Given the description of an element on the screen output the (x, y) to click on. 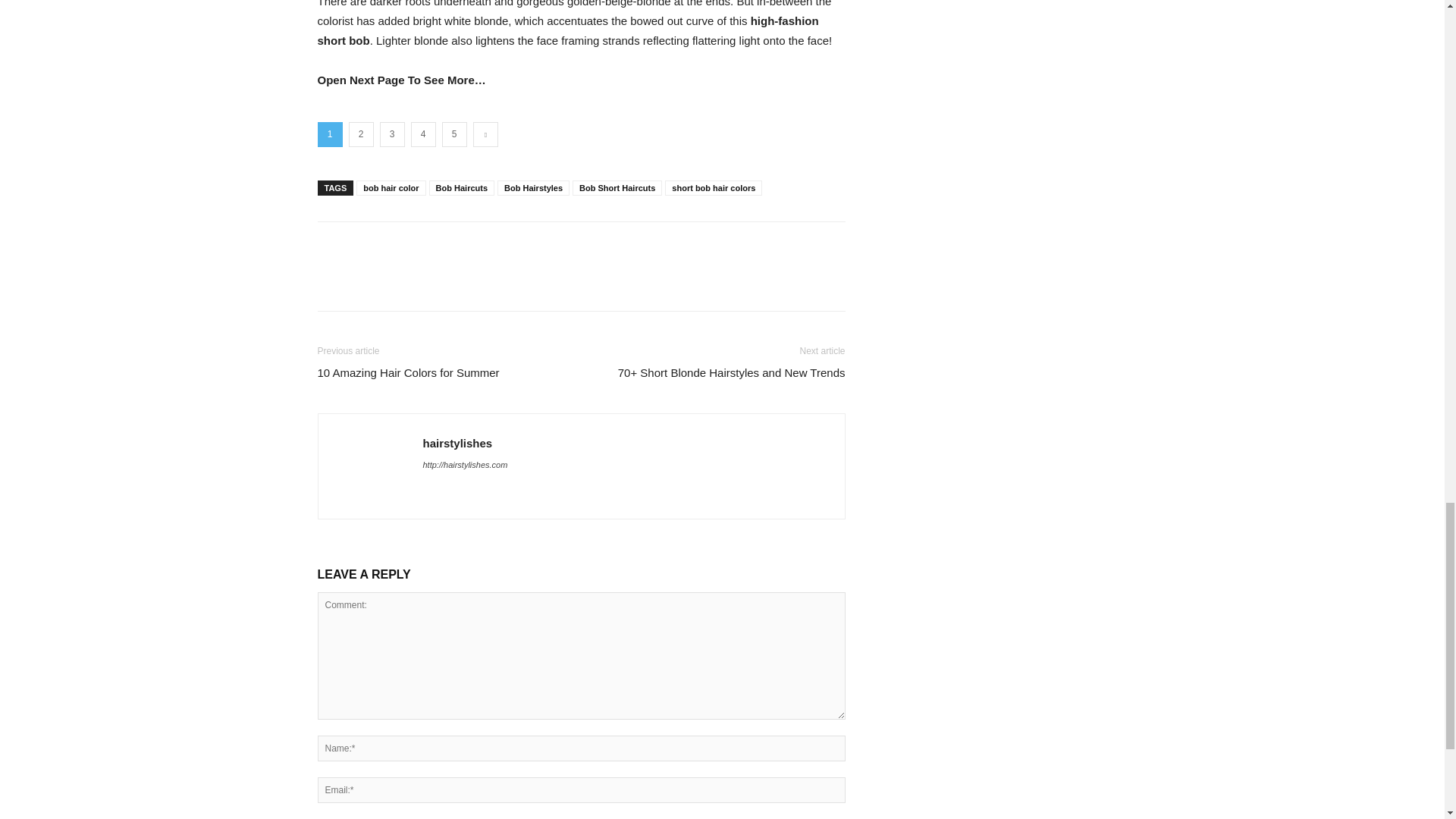
Bob Short Haircuts (617, 187)
bob hair color (390, 187)
bottomFacebookLike (430, 245)
4 (422, 134)
3 (391, 134)
5 (453, 134)
Bob Haircuts (462, 187)
Bob Hairstyles (533, 187)
2 (361, 134)
